Given the description of an element on the screen output the (x, y) to click on. 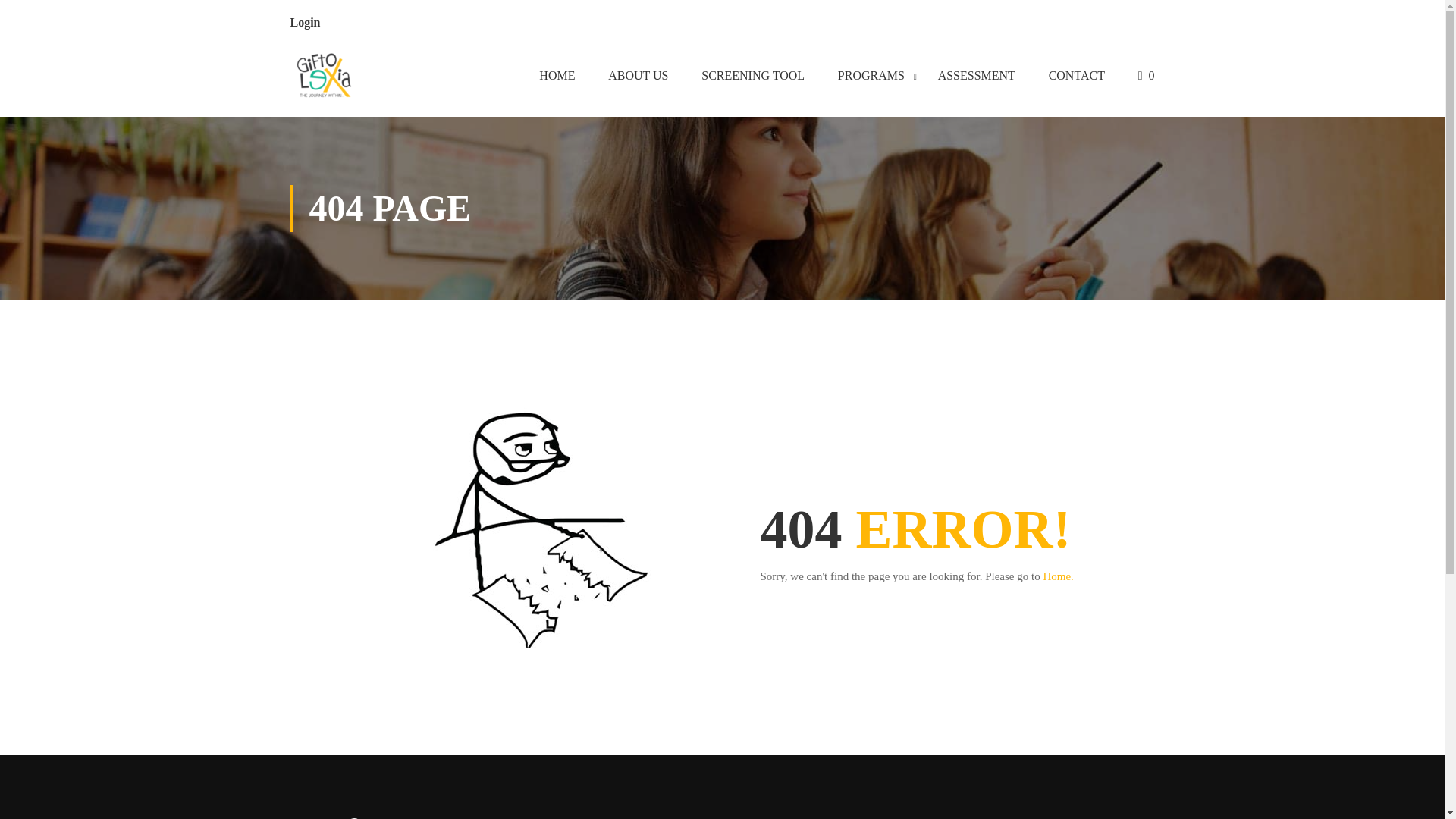
Giftolexia - About Giftolexia (323, 78)
ASSESSMENT (976, 78)
CONTACT (1076, 78)
PROGRAMS (871, 78)
SCREENING TOOL (752, 78)
Login (304, 21)
View your shopping cart (1146, 78)
0 (1146, 78)
HOME (556, 78)
Home. (1057, 576)
